Given the description of an element on the screen output the (x, y) to click on. 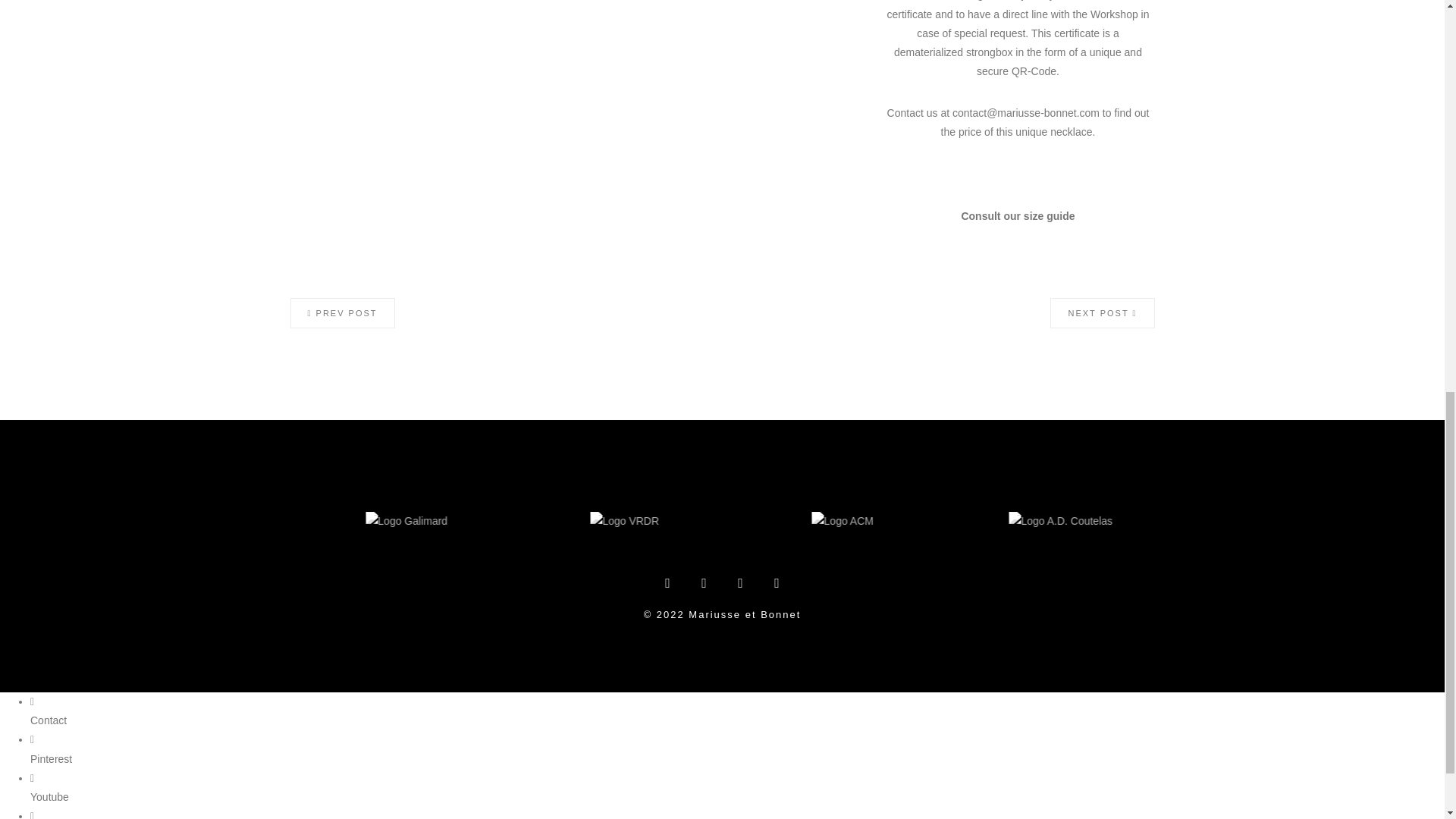
NEXT POST (1101, 313)
PREV POST (341, 313)
Consult our size guide (1017, 215)
